Given the description of an element on the screen output the (x, y) to click on. 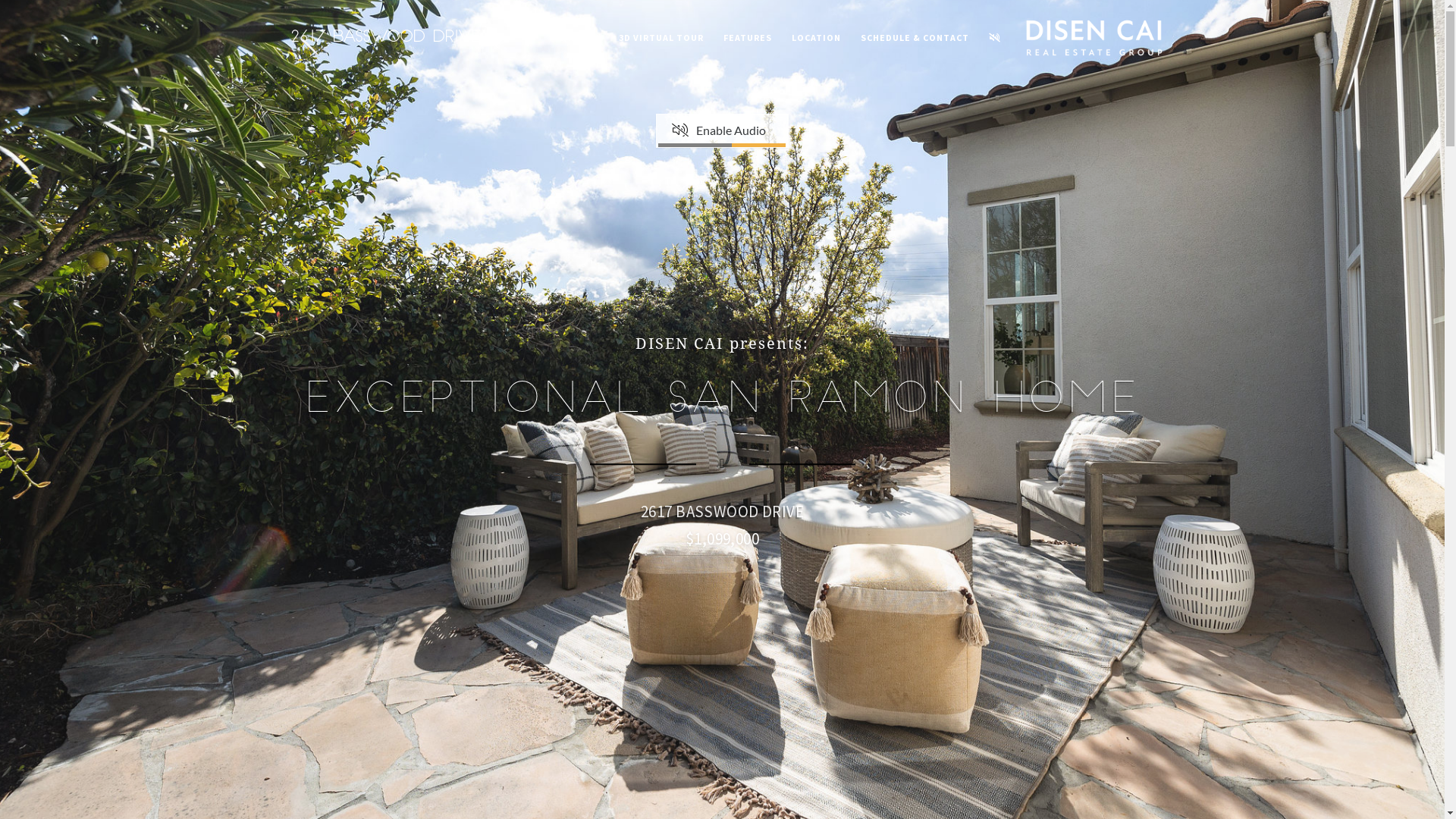
SCHEDULE & CONTACT Element type: text (913, 37)
2617 BASSWOOD DRIVE Element type: text (721, 511)
3D VIRTUAL TOUR Element type: text (661, 37)
GALLERY Element type: text (577, 37)
Enable Audio Element type: text (691, 124)
FEATURES Element type: text (747, 37)
2617 Basswood Drive Element type: text (385, 34)
LOCATION Element type: text (816, 37)
